Given the description of an element on the screen output the (x, y) to click on. 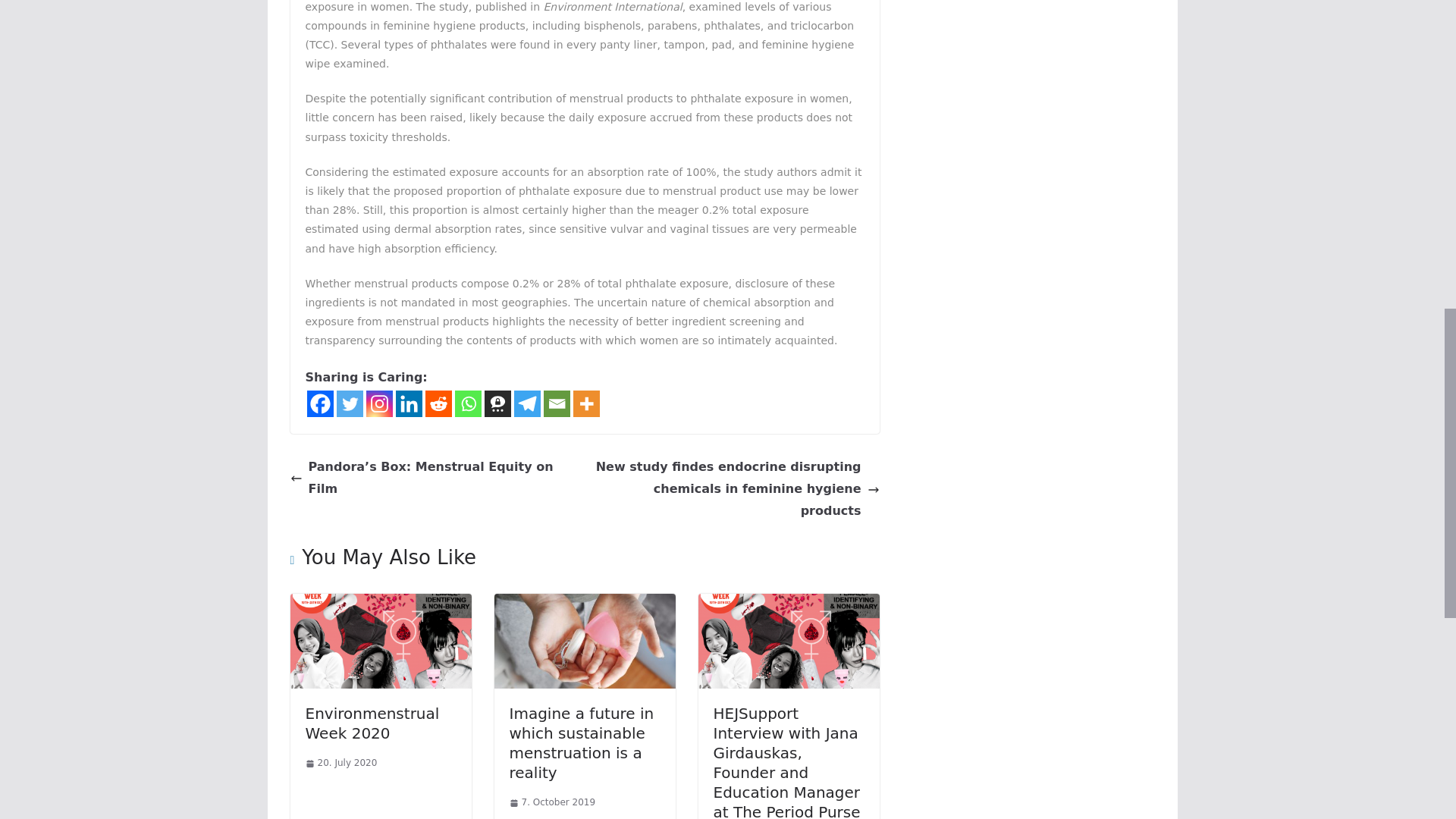
Whatsapp (467, 403)
Instagram (378, 403)
More (586, 403)
19:51 (340, 763)
Threema (497, 403)
Telegram (526, 403)
Reddit (438, 403)
Twitter (349, 403)
20. July 2020 (340, 763)
Facebook (319, 403)
Email (556, 403)
Linkedin (409, 403)
